Given the description of an element on the screen output the (x, y) to click on. 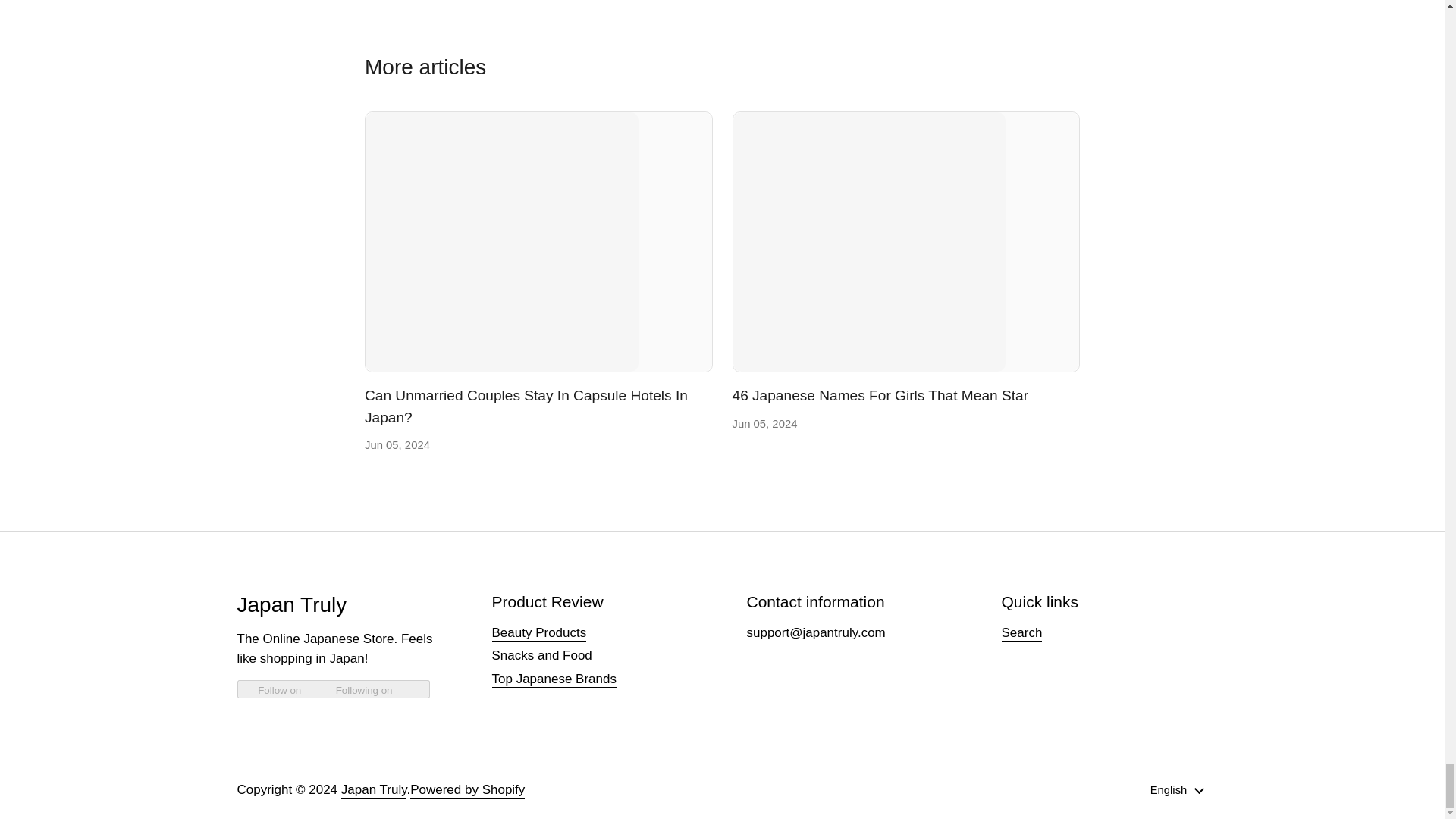
46 Japanese Names For Girls That Mean Star (880, 396)
46 Japanese Names For Girls That Mean Star (906, 241)
Can Unmarried Couples Stay In Capsule Hotels In Japan? (526, 407)
46 Japanese Names For Girls That Mean Star (880, 396)
Can Unmarried Couples Stay In Capsule Hotels In Japan? (539, 241)
Can Unmarried Couples Stay In Capsule Hotels In Japan? (526, 407)
